Given the description of an element on the screen output the (x, y) to click on. 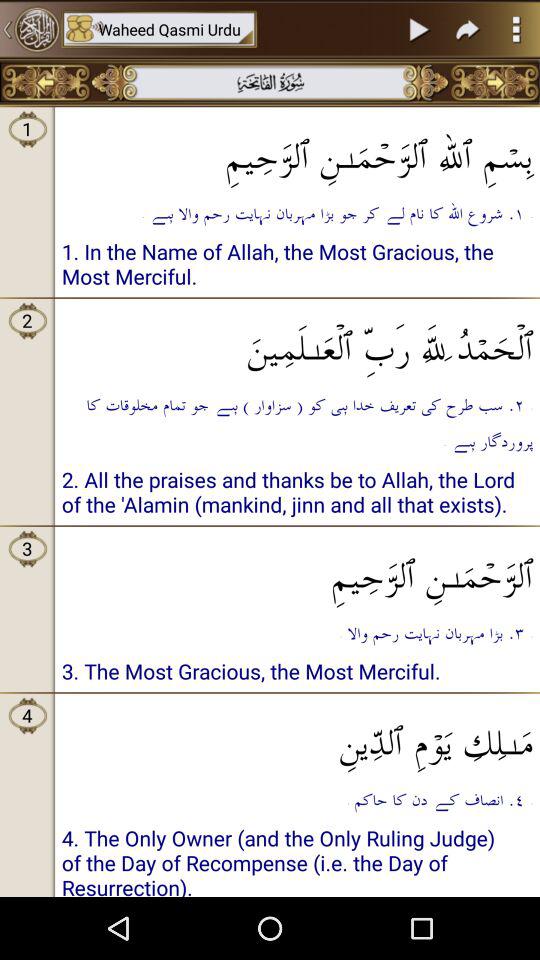
share passage (468, 29)
